Given the description of an element on the screen output the (x, y) to click on. 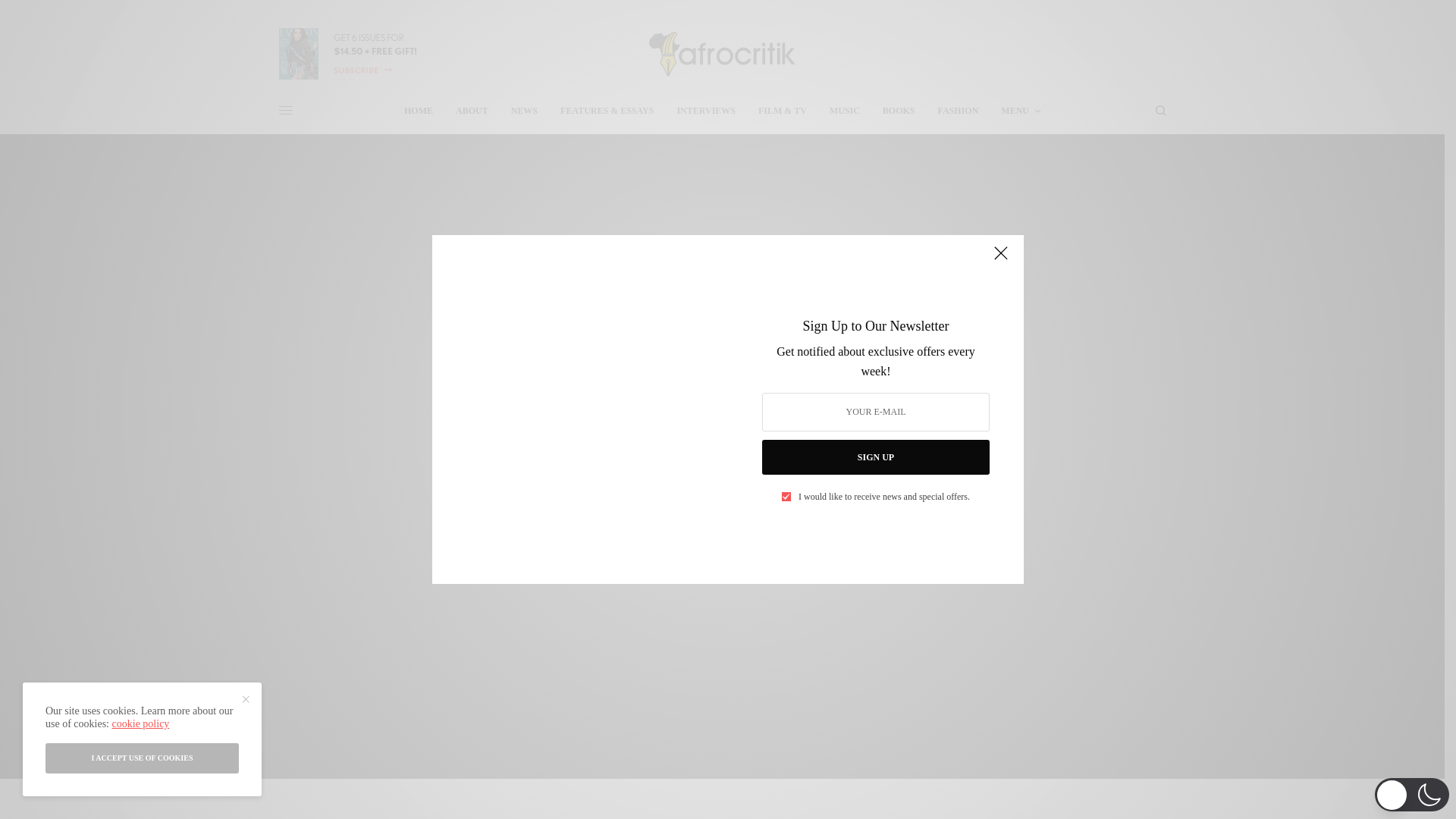
Afrocritik (721, 53)
SIGN UP (875, 457)
INTERVIEWS (706, 110)
FASHION (957, 110)
MUSIC (721, 403)
